Given the description of an element on the screen output the (x, y) to click on. 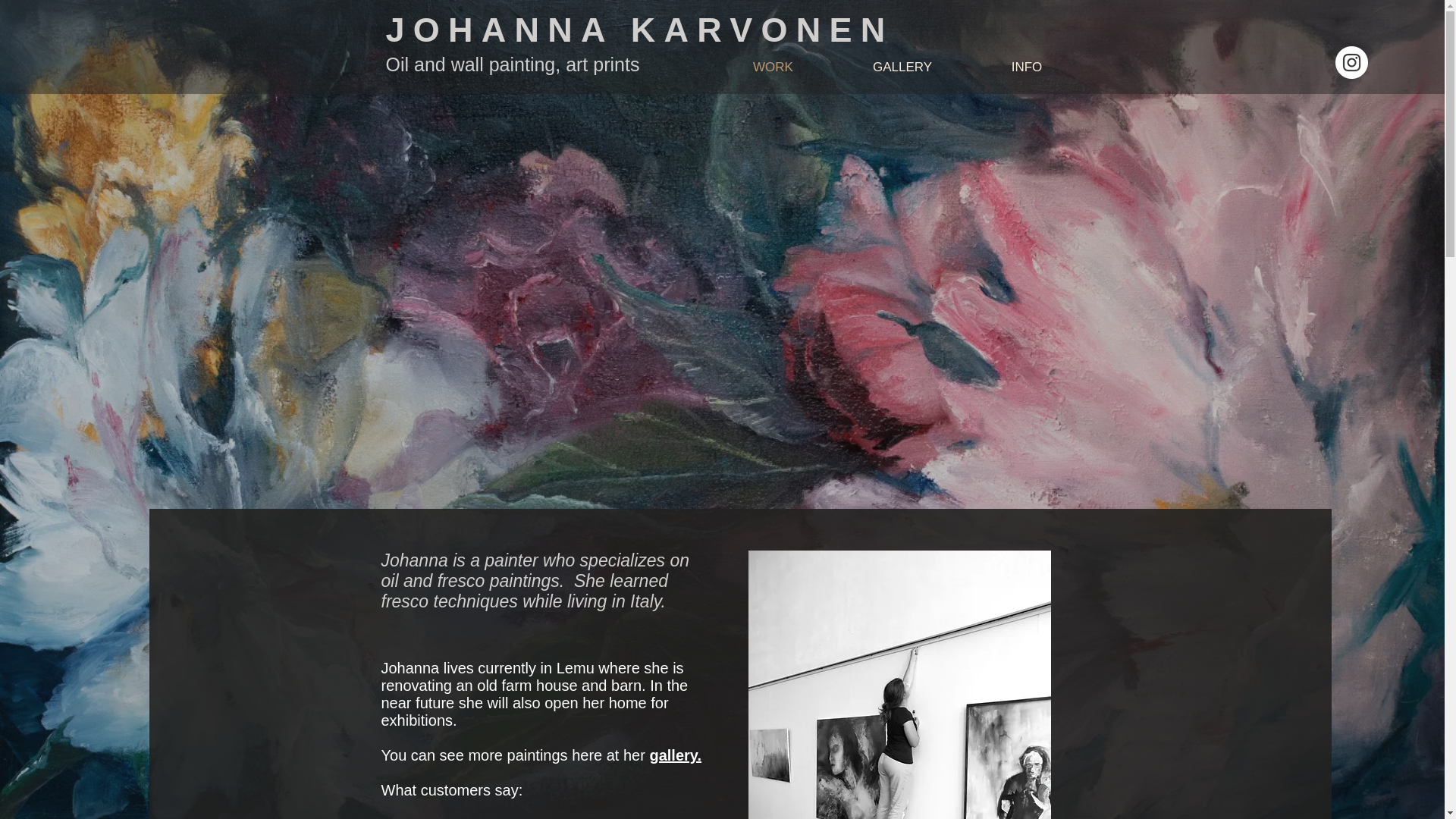
INFO (1026, 66)
WORK (773, 66)
GALLERY (902, 66)
